Given the description of an element on the screen output the (x, y) to click on. 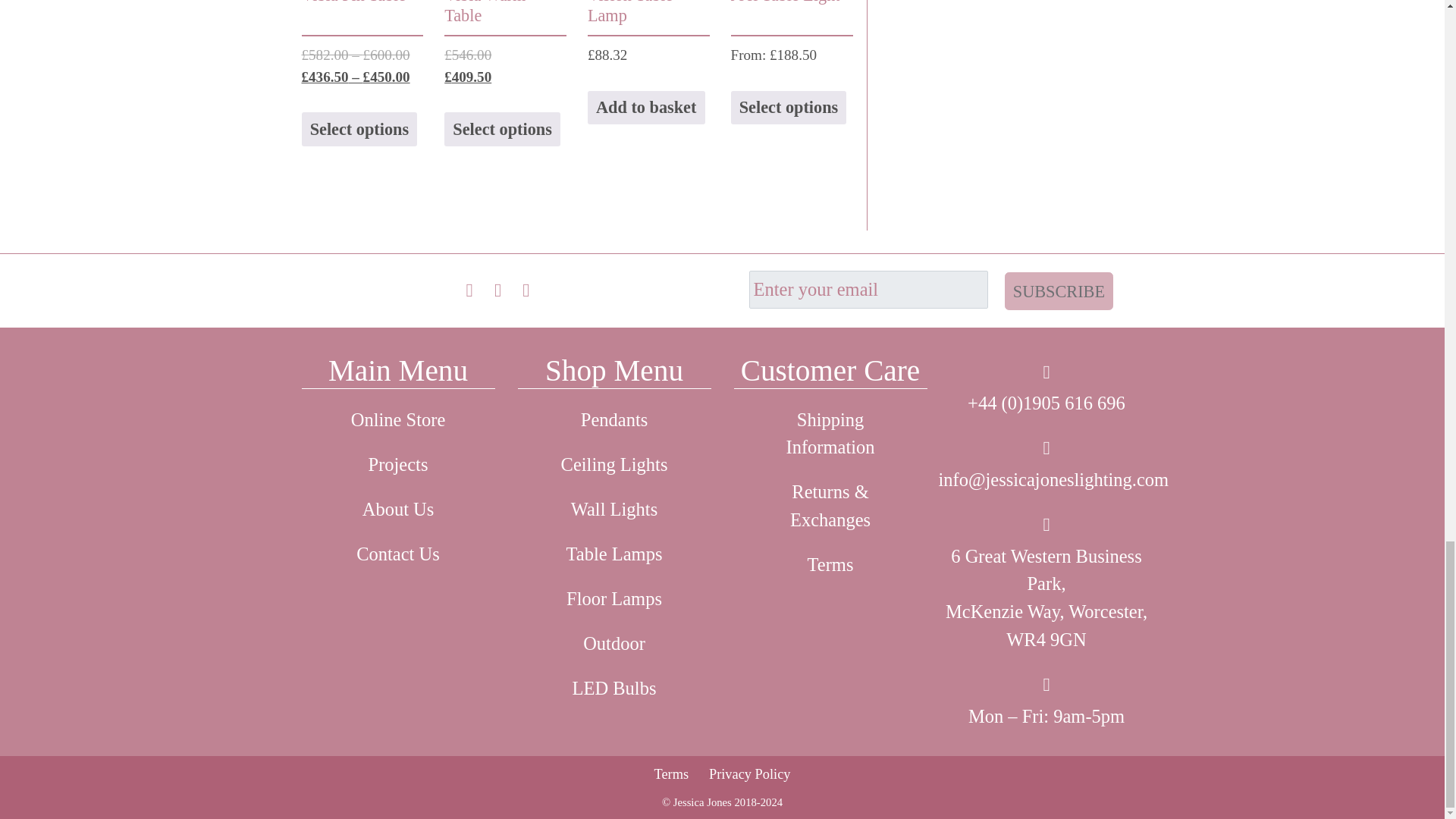
Select options (502, 129)
Select options (788, 107)
Online Store (398, 420)
Add to basket (646, 107)
Projects (398, 465)
About Us (398, 509)
Select options (359, 129)
